Given the description of an element on the screen output the (x, y) to click on. 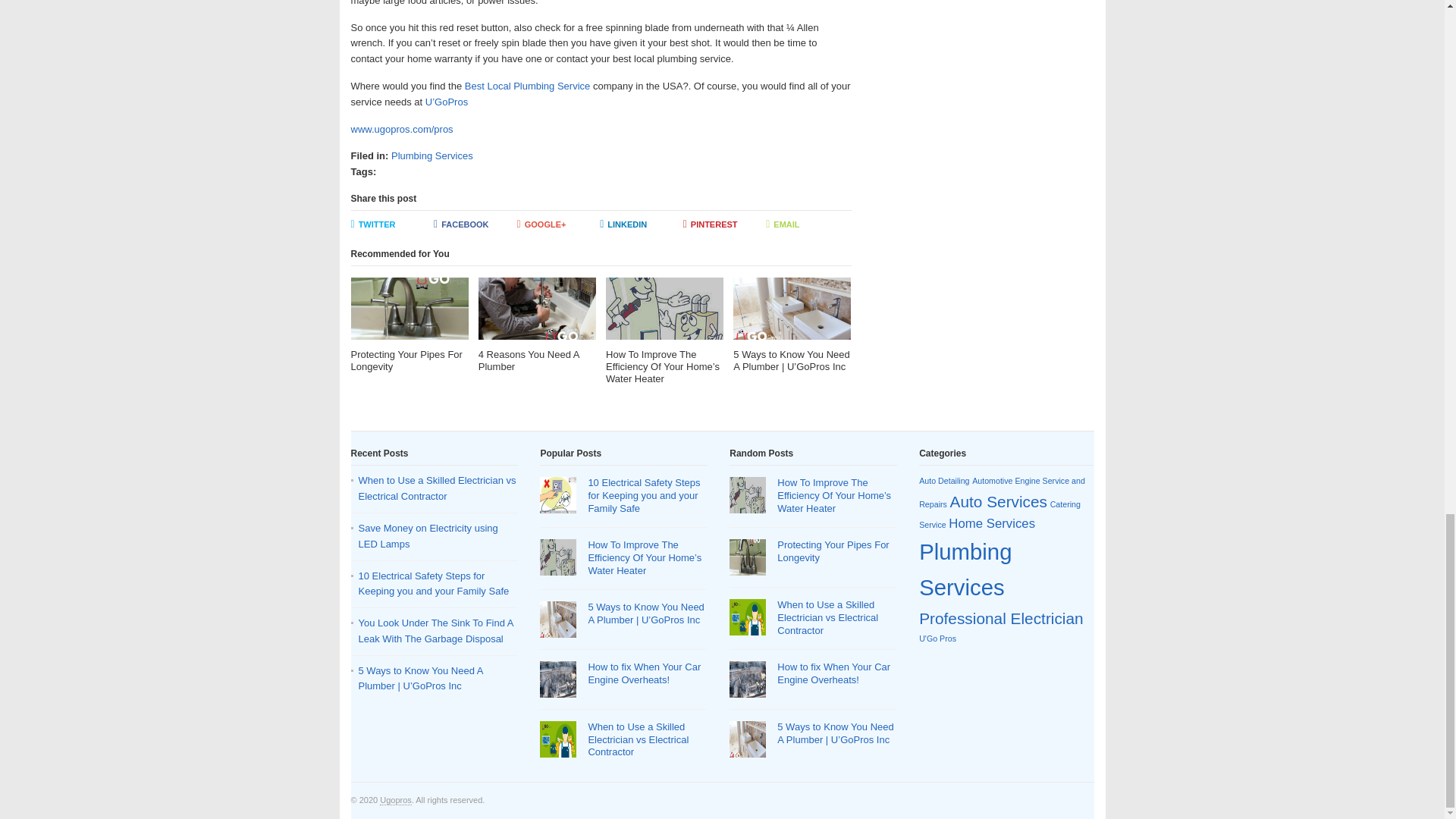
EMAIL (806, 224)
Plumbing Services (432, 155)
FACEBOOK (474, 224)
PINTEREST (724, 224)
Protecting Your Pipes For Longevity (408, 325)
4 Reasons You Need A Plumber (537, 325)
When to Use a Skilled Electrician vs Electrical Contractor (436, 488)
TWITTER (391, 224)
LINKEDIN (640, 224)
Best Local Plumbing Service (528, 85)
